Given the description of an element on the screen output the (x, y) to click on. 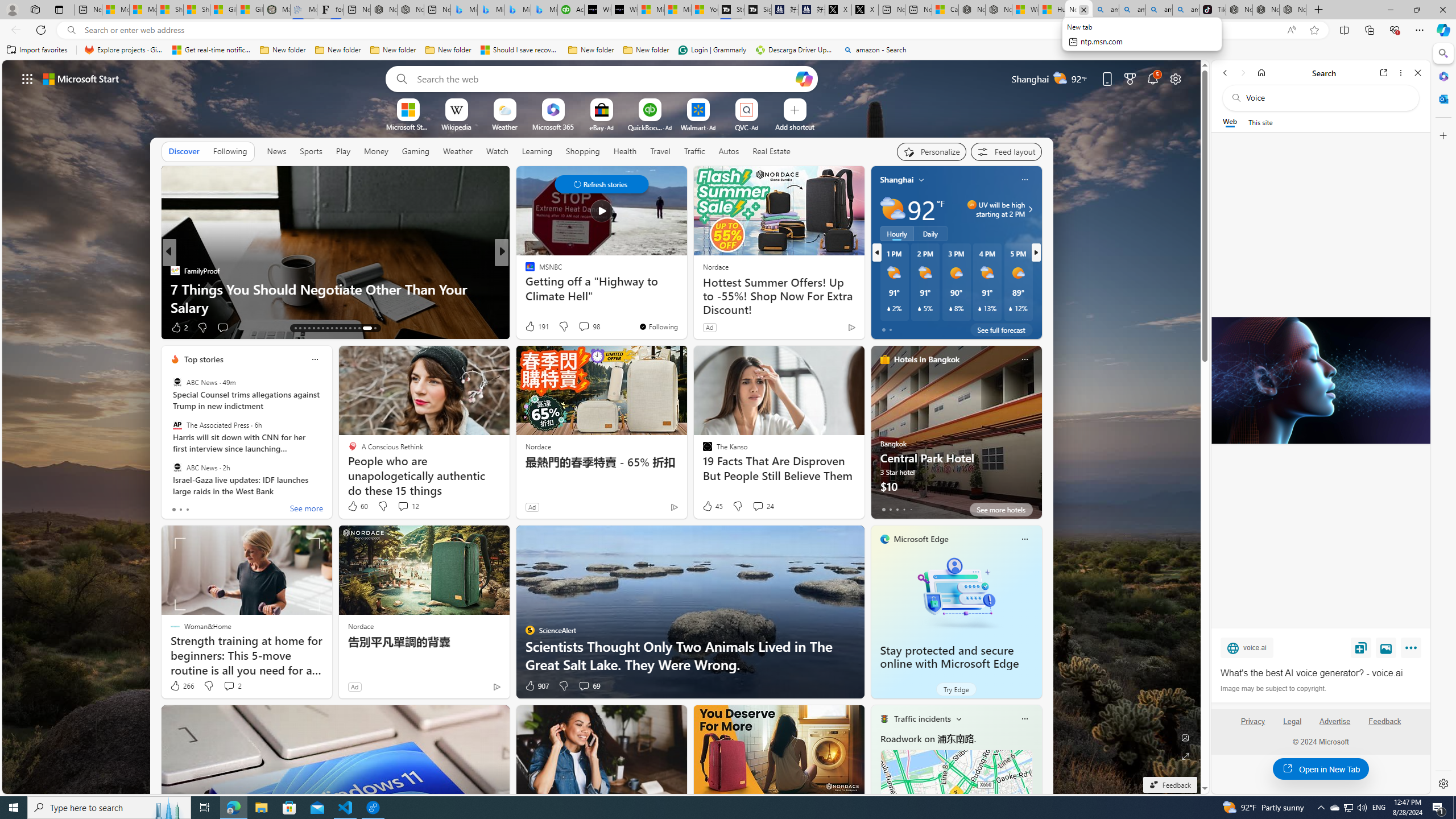
Import favorites (36, 49)
Gaming (415, 151)
AutomationID: tab-13 (295, 328)
previous (876, 252)
AutomationID: backgroundImagePicture (601, 426)
View comments 12 Comment (408, 505)
Microsoft Bing Travel - Stays in Bangkok, Bangkok, Thailand (491, 9)
AutomationID: waffle (27, 78)
FamilyProof (174, 270)
AutomationID: tab-19 (322, 328)
